Given the description of an element on the screen output the (x, y) to click on. 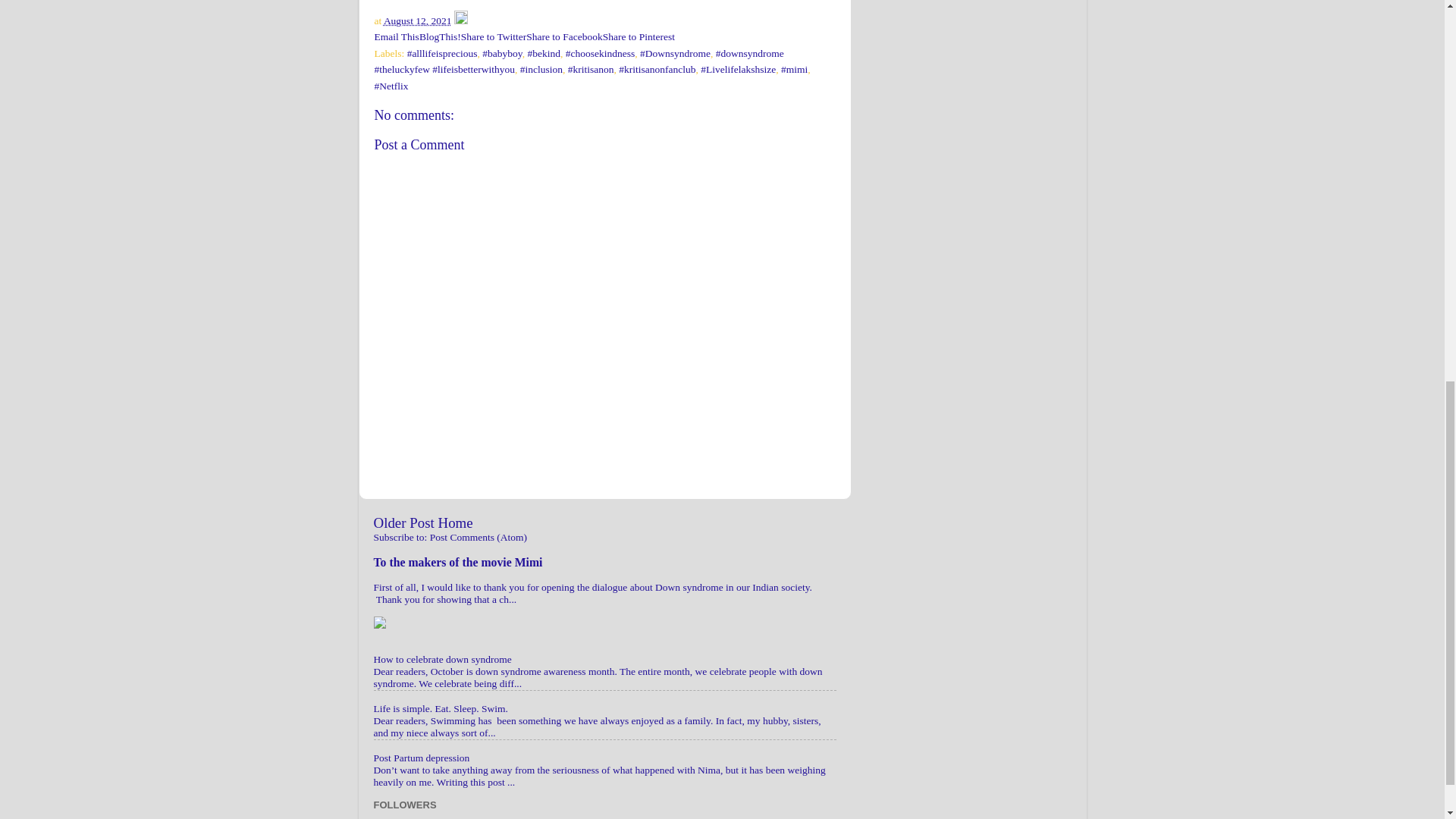
permanent link (417, 20)
How to celebrate down syndrome (441, 659)
Post Partum depression (420, 757)
Share to Facebook (563, 36)
To the makers of the movie Mimi (456, 562)
Older Post (402, 522)
BlogThis! (440, 36)
Email This (396, 36)
Edit Post (460, 20)
Life is simple. Eat. Sleep. Swim. (439, 708)
